Given the description of an element on the screen output the (x, y) to click on. 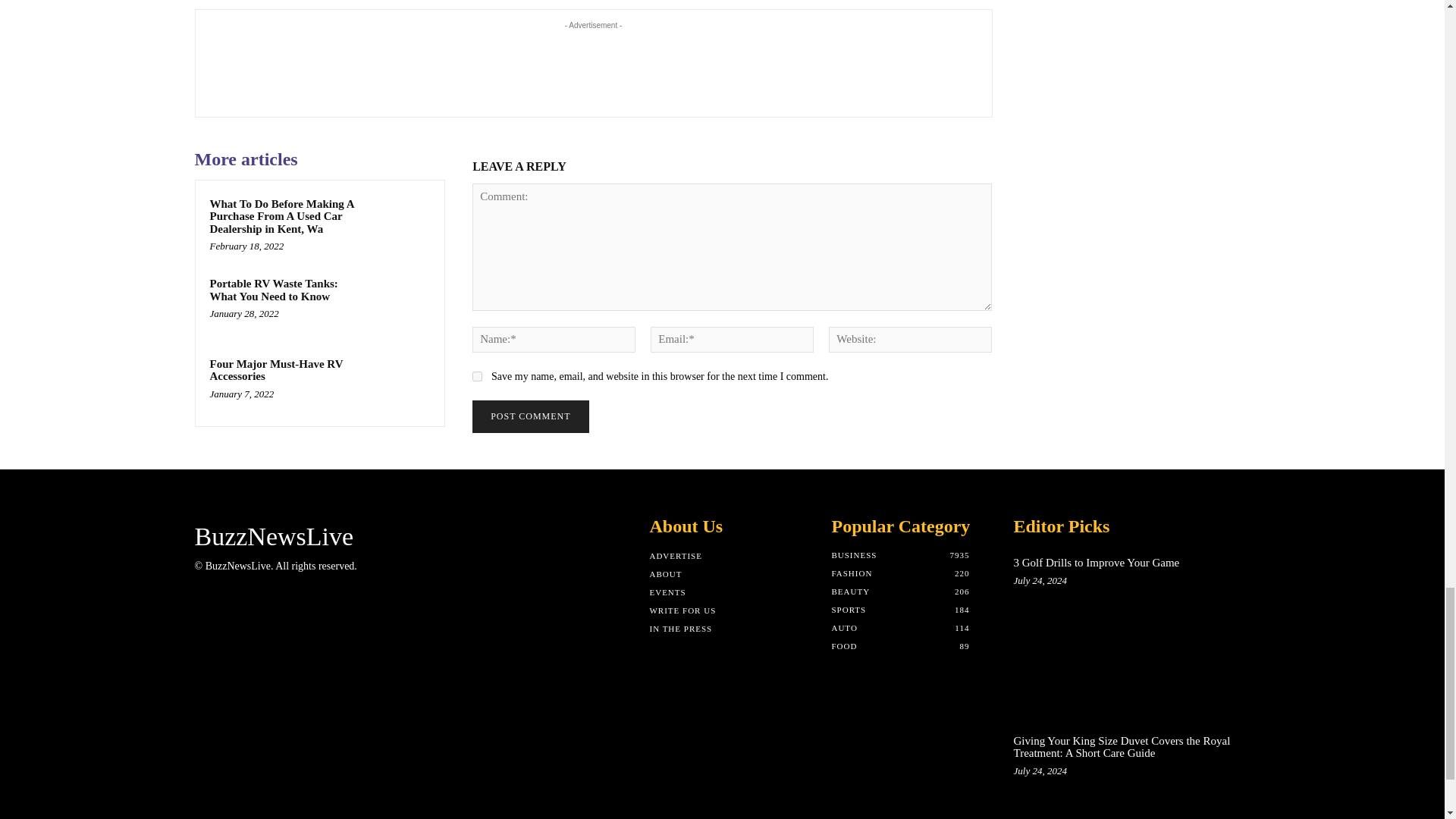
yes (476, 376)
Post Comment (529, 416)
